Given the description of an element on the screen output the (x, y) to click on. 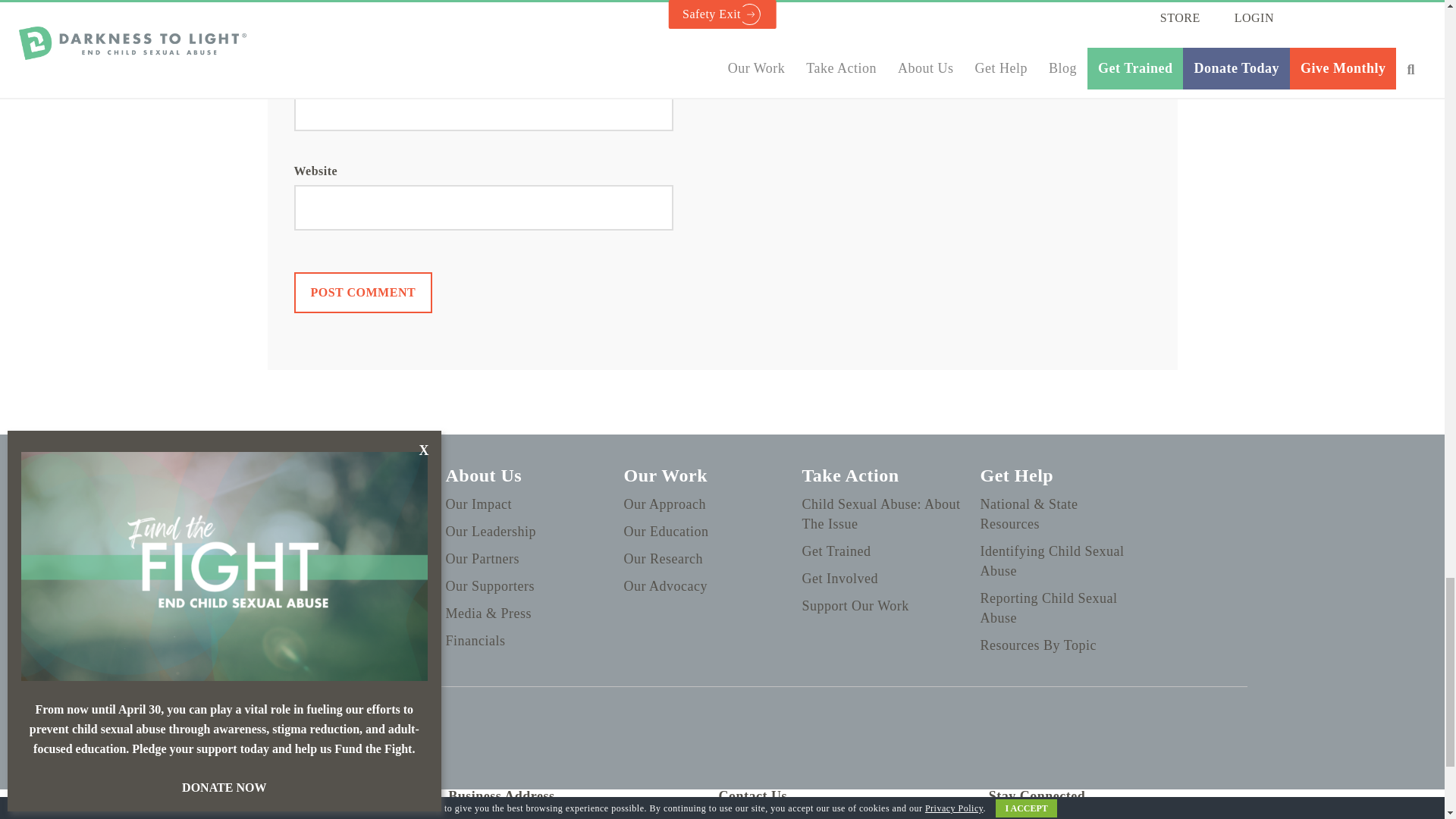
Post Comment (363, 291)
